Given the description of an element on the screen output the (x, y) to click on. 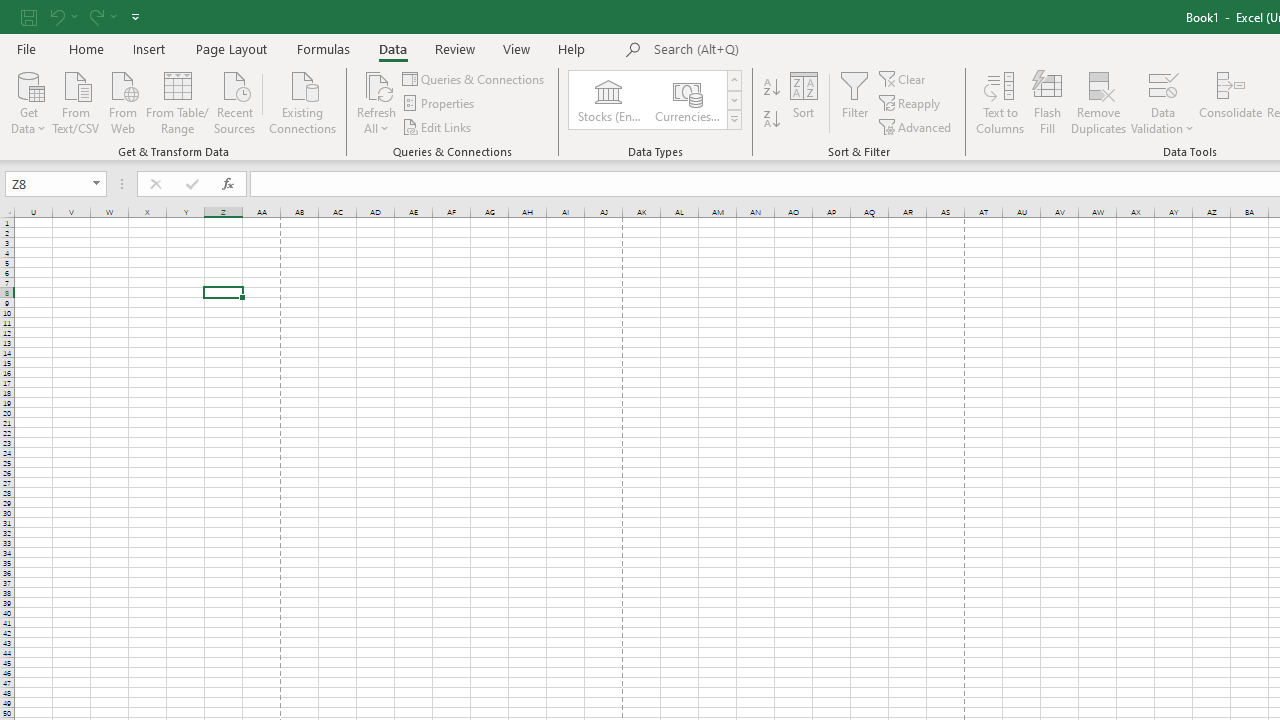
Clear (903, 78)
Sort... (804, 102)
Edit Links (438, 126)
Currencies (English) (686, 100)
Data Types (734, 120)
Flash Fill (1047, 102)
Class: NetUIImage (734, 119)
Reapply (911, 103)
Properties (440, 103)
